Given the description of an element on the screen output the (x, y) to click on. 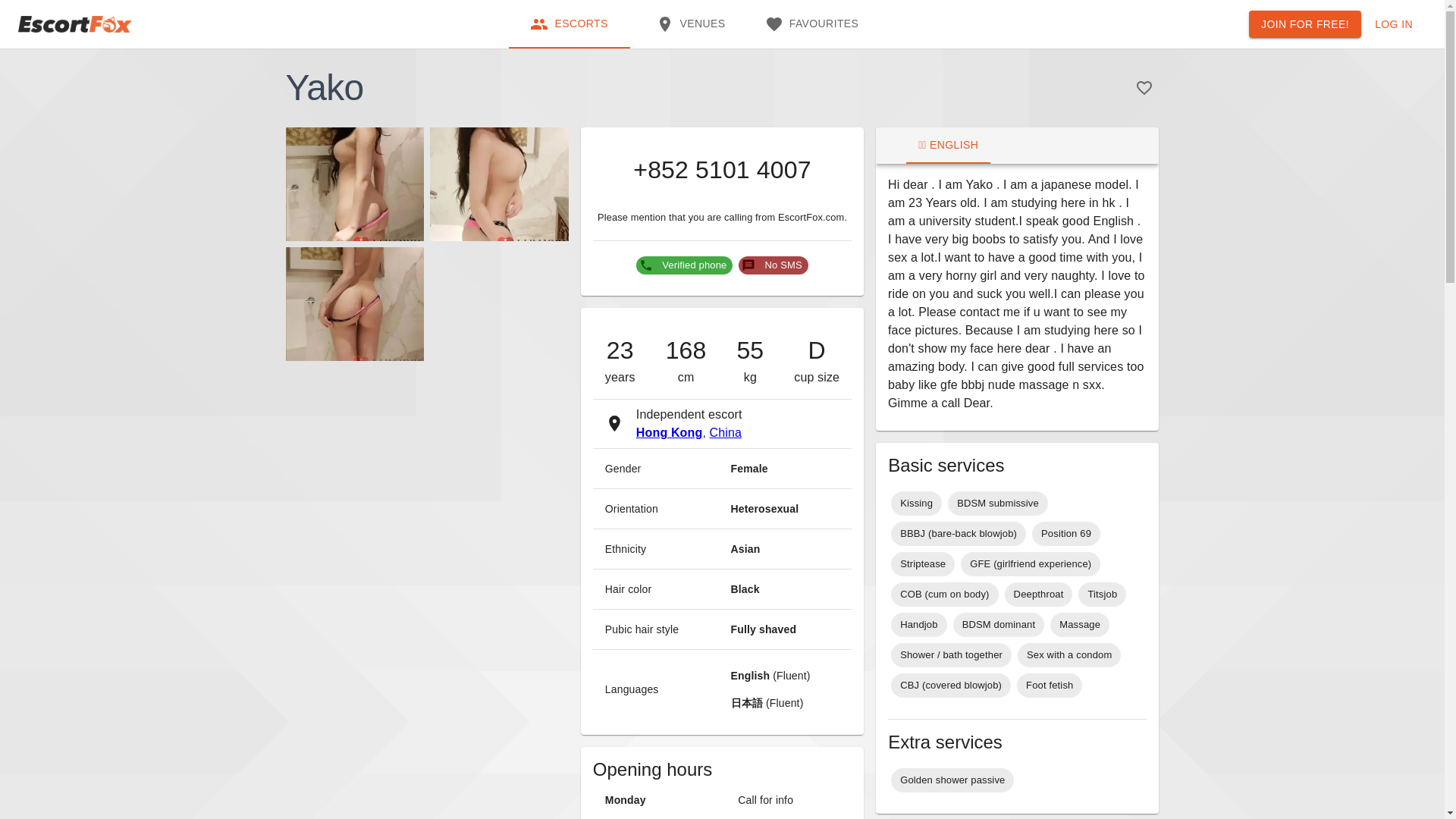
Handjob (690, 24)
VENUES (918, 624)
Golden shower passive (690, 24)
Hong Kong (952, 780)
FAVOURITES (669, 431)
Titsjob (811, 24)
Position 69 (1101, 594)
Kissing (1066, 533)
Sex with a condom (916, 503)
BDSM submissive (1069, 654)
Striptease (997, 503)
JOIN FOR FREE! (923, 564)
China (1305, 24)
ESCORTS (726, 431)
